Given the description of an element on the screen output the (x, y) to click on. 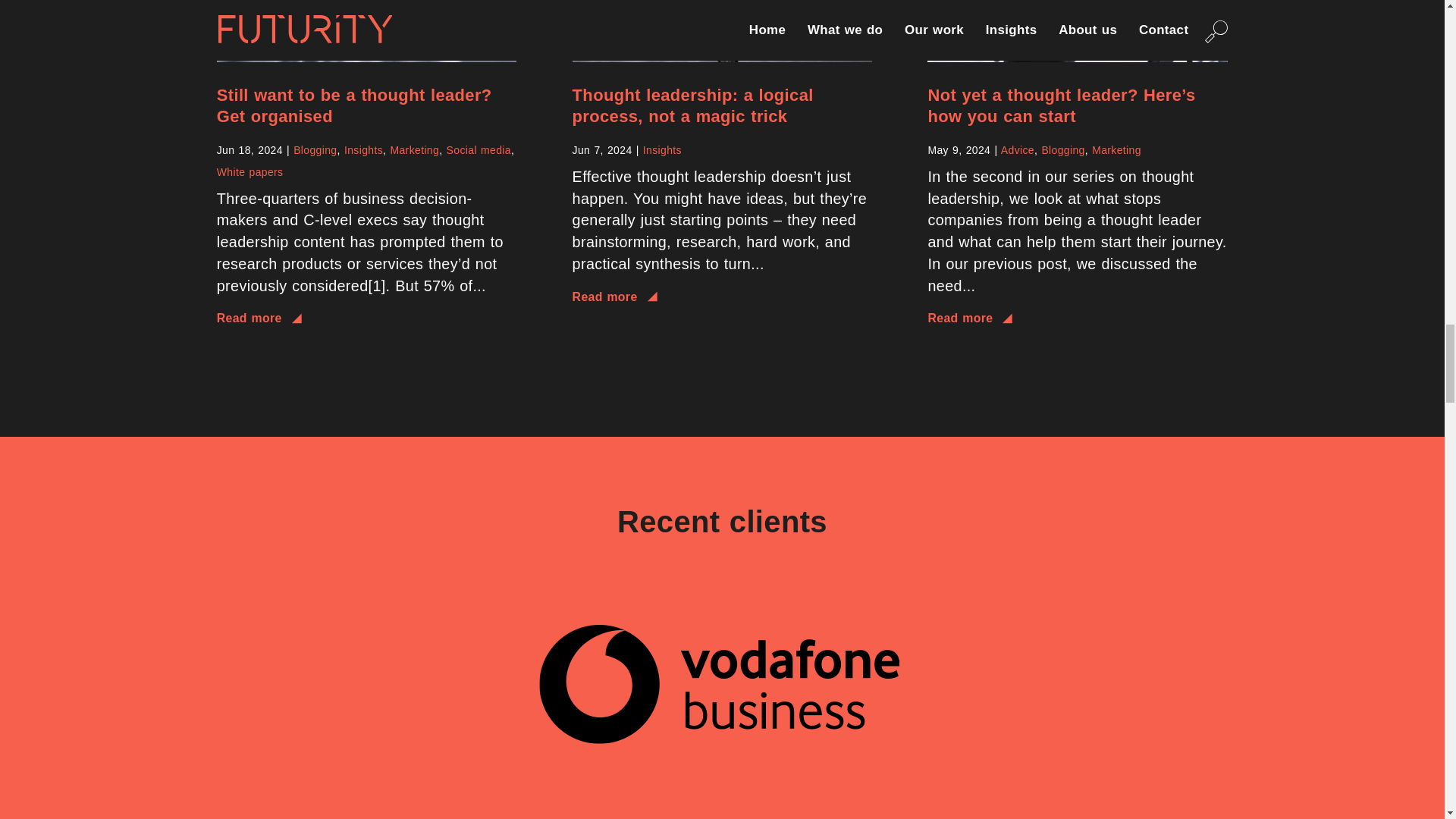
read more (1077, 320)
Blogging (1062, 150)
read more (722, 299)
Blogging (315, 150)
Marketing (414, 150)
White papers (249, 172)
Advice (1017, 150)
Insights (662, 150)
Marketing (1116, 150)
Thought leadership: a logical process, not a magic trick (692, 105)
Still want to be a thought leader? Get organised (354, 105)
read more (366, 320)
Social media (478, 150)
Insights (362, 150)
